Given the description of an element on the screen output the (x, y) to click on. 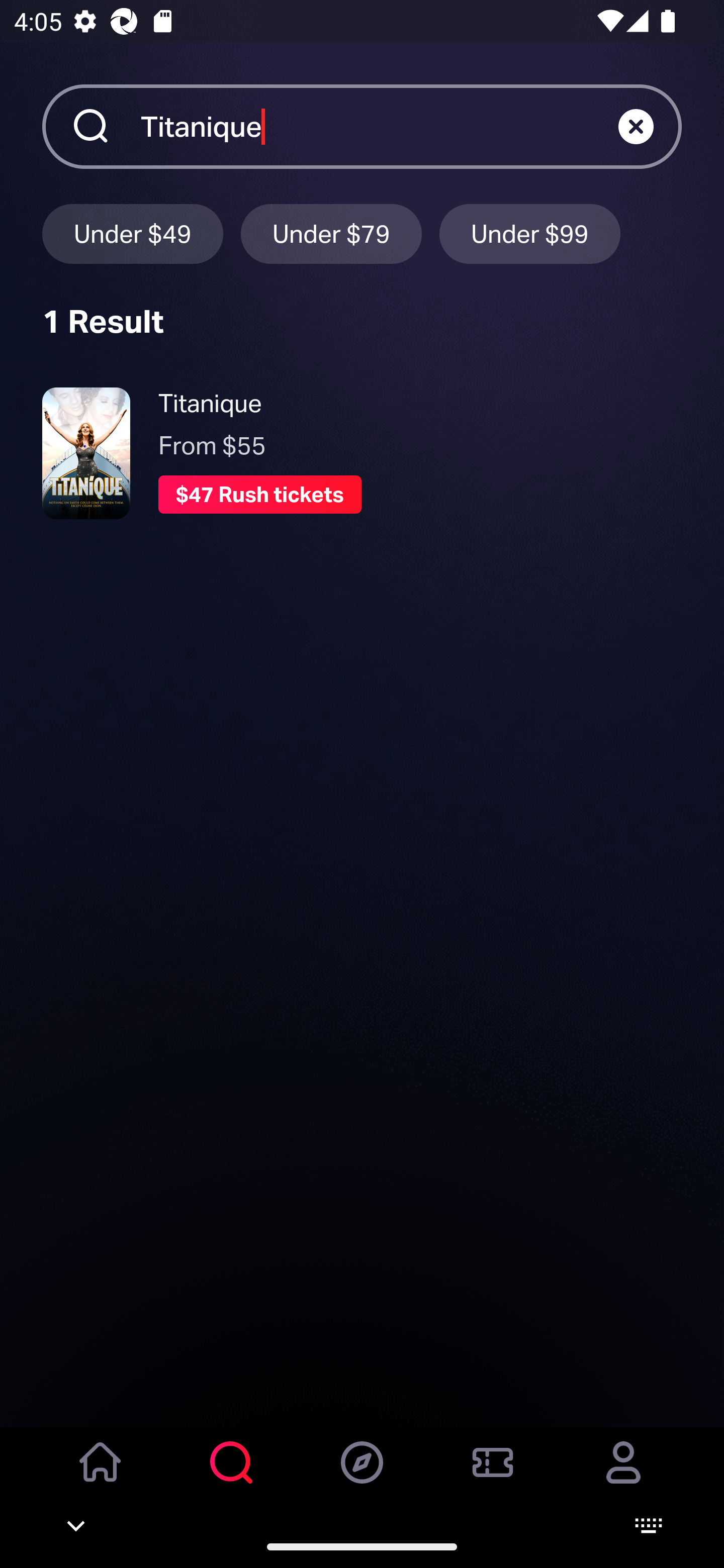
Titanique (379, 126)
Under $49 (131, 233)
Under $79 (331, 233)
Under $99 (529, 233)
Home (100, 1475)
Discover (361, 1475)
Orders (492, 1475)
Account (623, 1475)
